Given the description of an element on the screen output the (x, y) to click on. 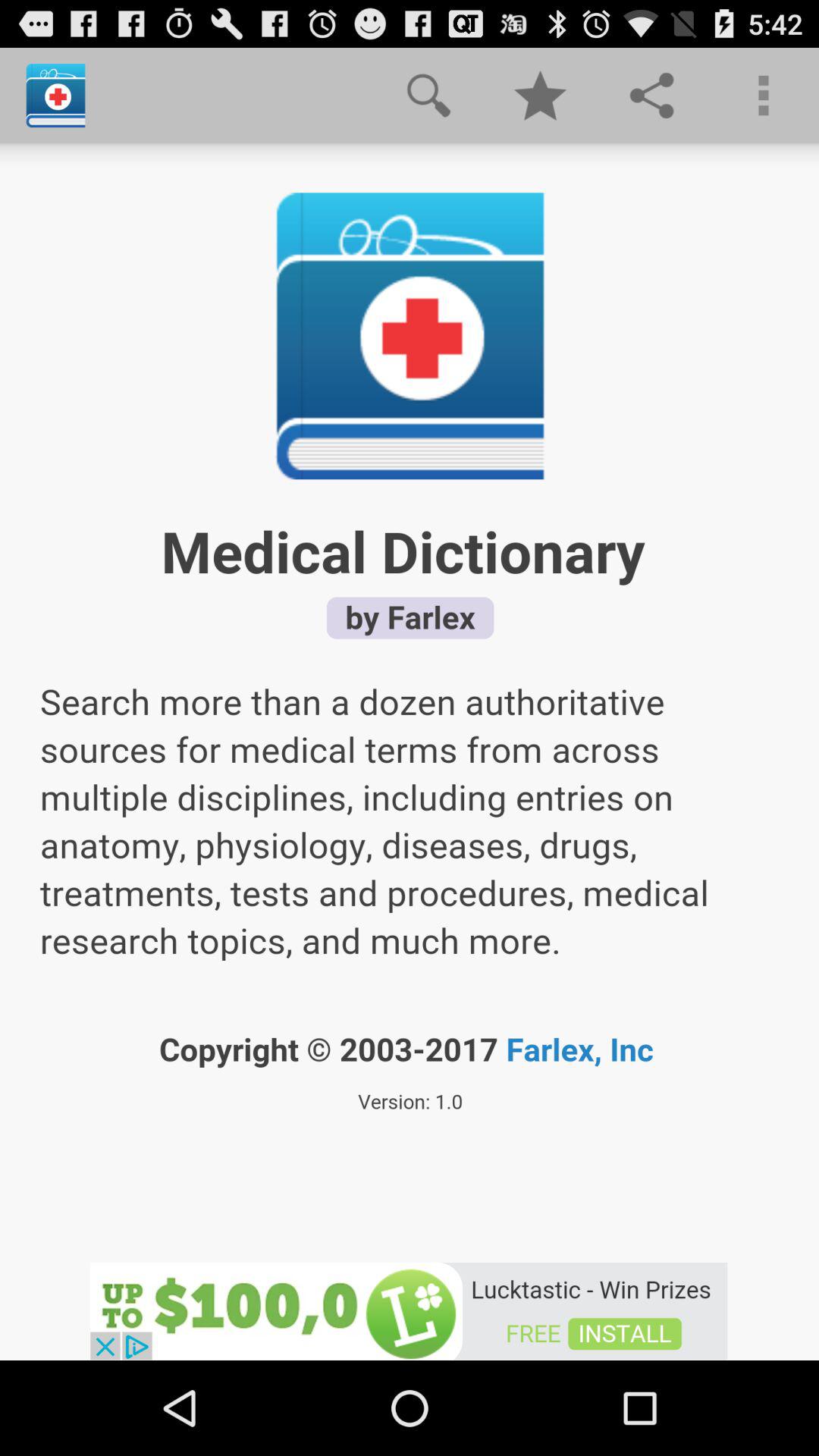
go to the lucktastic app page (408, 1309)
